Given the description of an element on the screen output the (x, y) to click on. 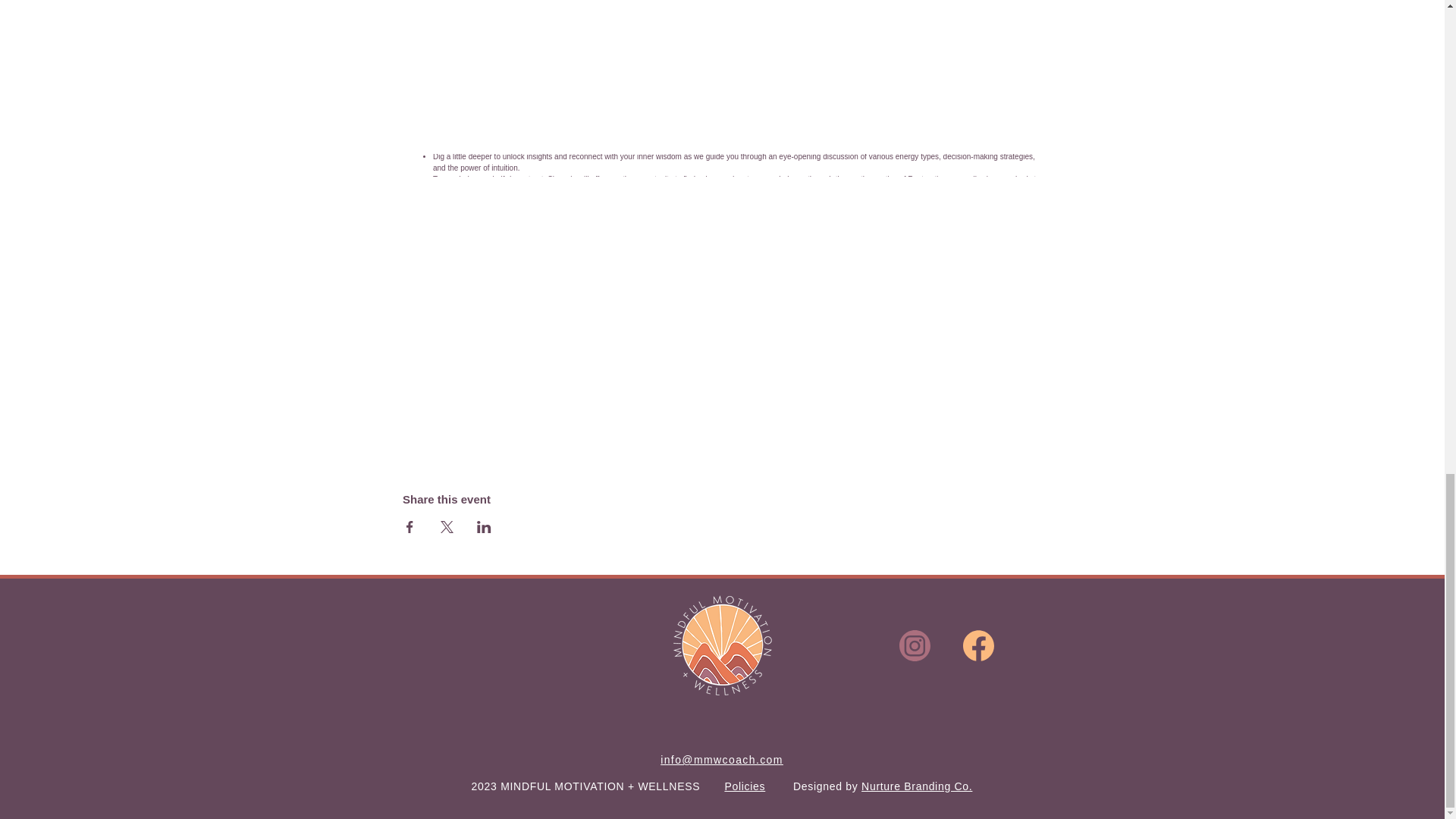
Mindful Motivation and Wellness Circle Logo (721, 645)
Policies (744, 786)
Nurture Branding Co. (916, 786)
